Given the description of an element on the screen output the (x, y) to click on. 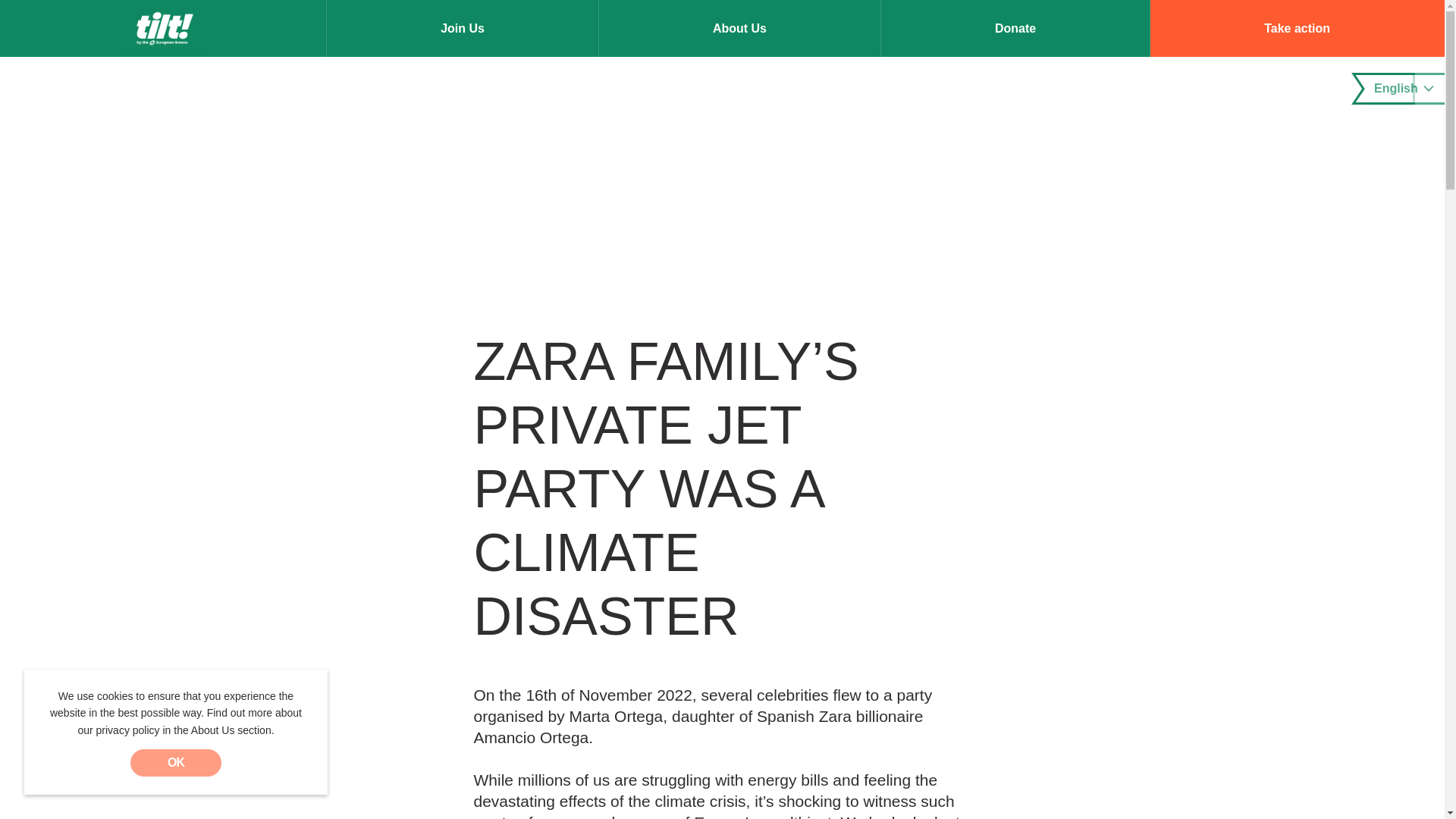
OK (176, 762)
Join Us (462, 28)
Donate (1015, 28)
About Us (739, 28)
